Given the description of an element on the screen output the (x, y) to click on. 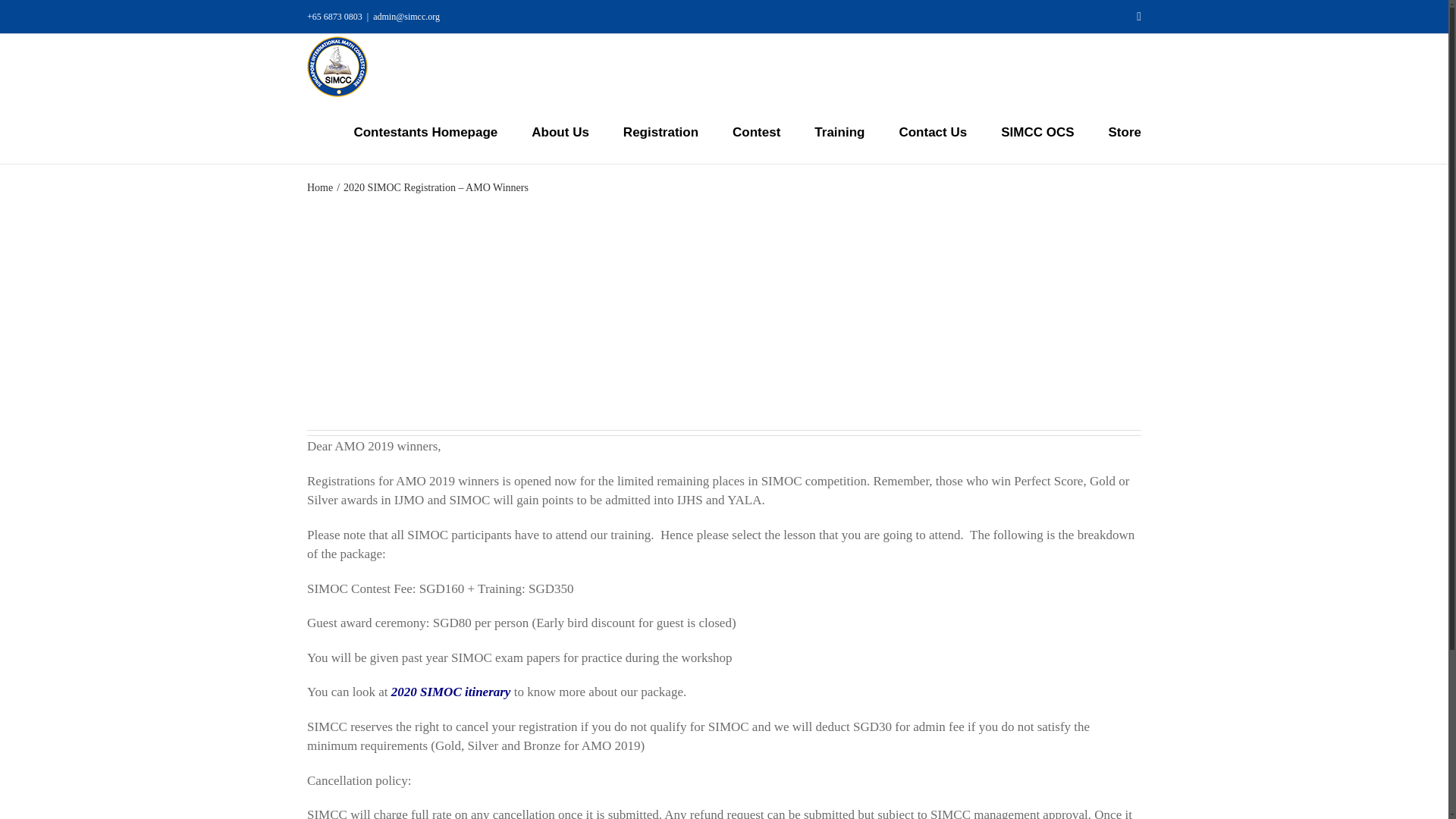
SIMCC OCS (1037, 131)
Registration (660, 131)
About Us (560, 131)
Contestants Homepage (425, 131)
Contact Us (932, 131)
